Given the description of an element on the screen output the (x, y) to click on. 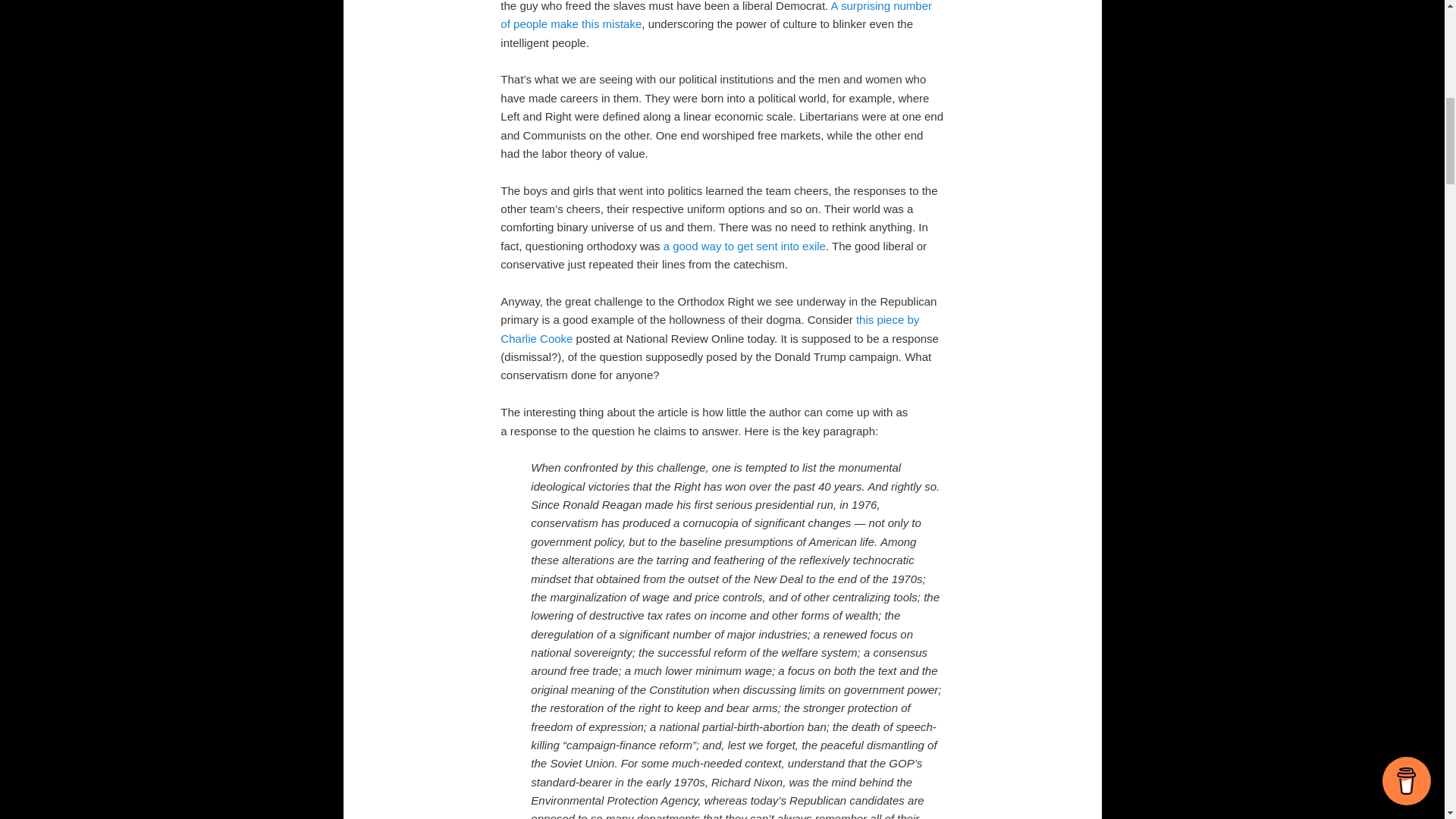
A surprising number of people make this mistake (715, 15)
this piece by Charlie Cooke (709, 327)
a good way to get sent into exile (744, 245)
